Given the description of an element on the screen output the (x, y) to click on. 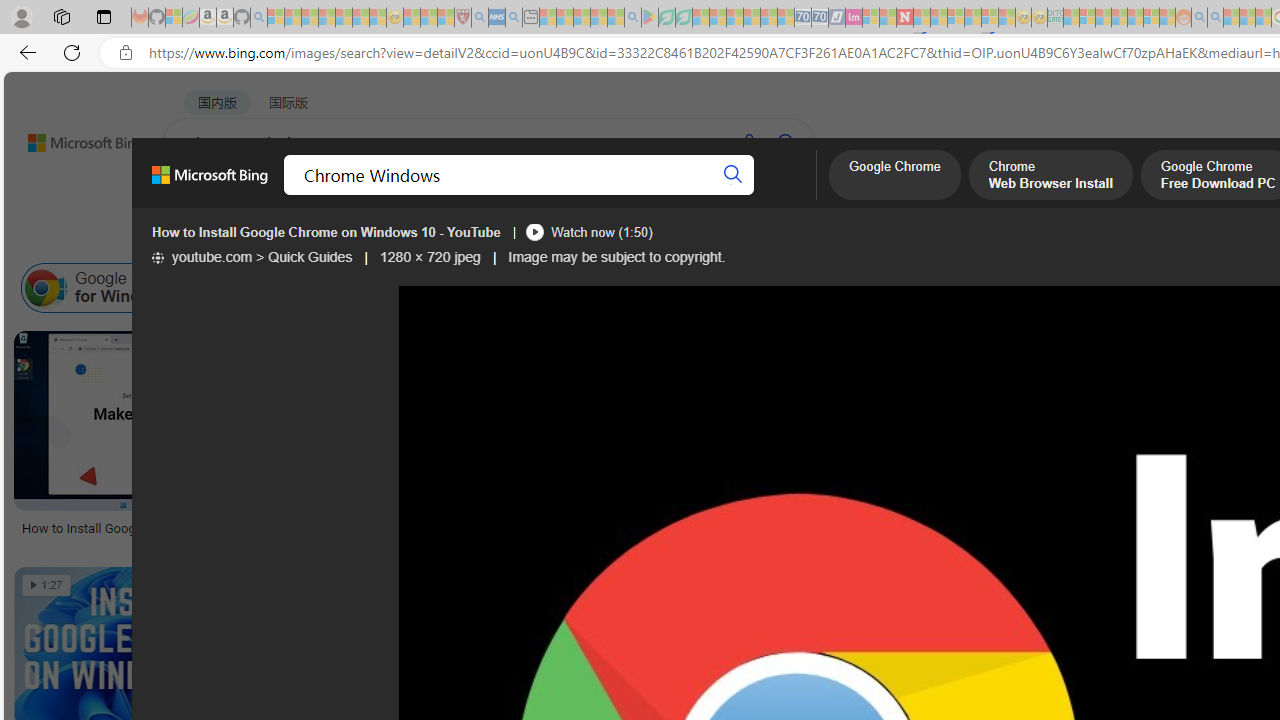
MSNBC - MSN - Sleeping (1071, 17)
Personal Profile (21, 16)
Image result for Chrome Windows (586, 611)
Utah sues federal government - Search - Sleeping (1215, 17)
Jobs - lastminute.com Investor Portal - Sleeping (853, 17)
How to Install Google Chrome on Windows 11Save (206, 444)
Class: item col (1144, 287)
Get Google Chrome for Windows (408, 287)
Color (305, 237)
Dropdown Menu (793, 195)
People (520, 237)
Local - MSN - Sleeping (445, 17)
Trusted Community Engagement and Contributions | Guidelines (921, 17)
